Given the description of an element on the screen output the (x, y) to click on. 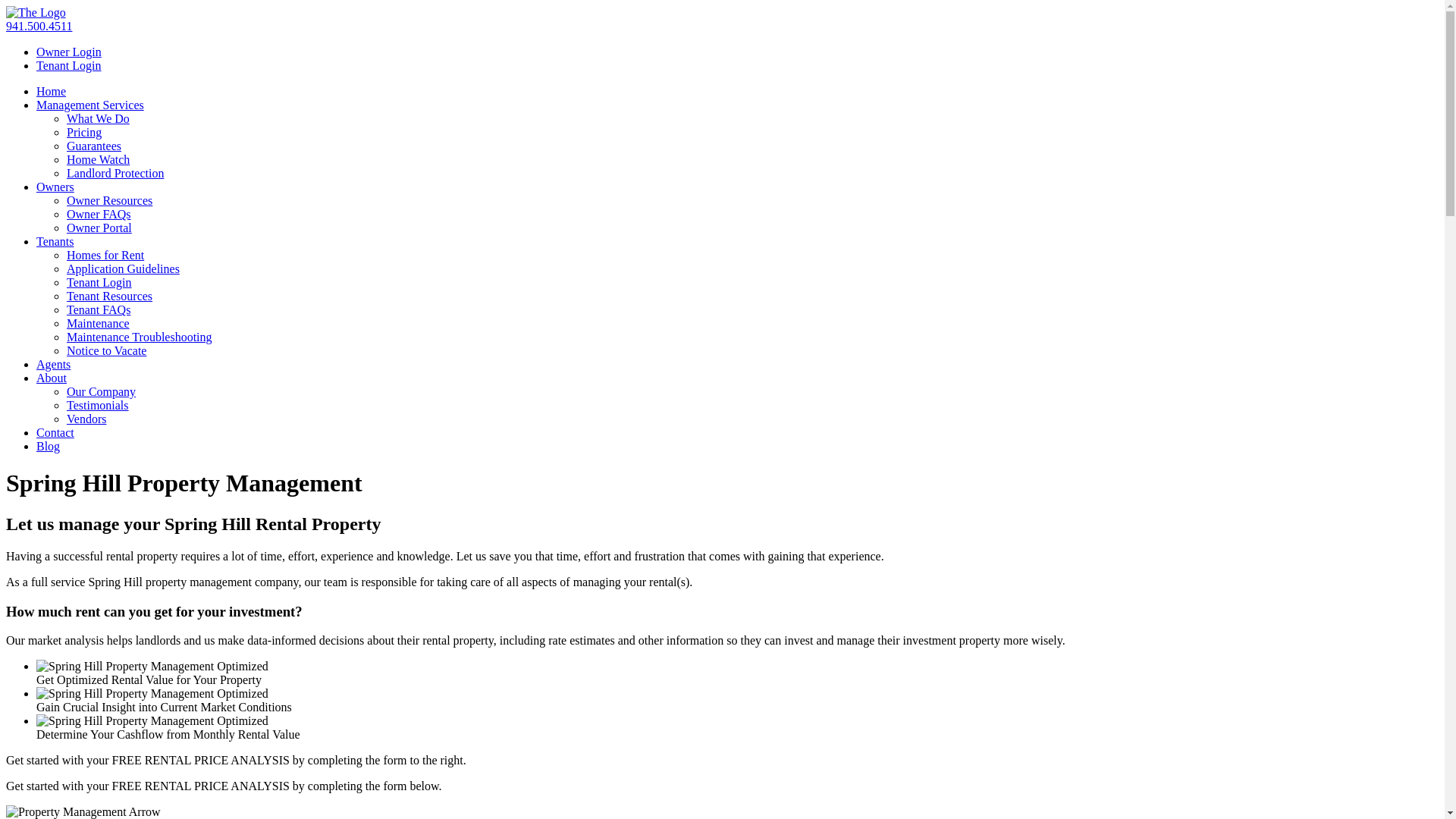
Agents Element type: text (53, 363)
Pricing Element type: text (83, 131)
Our Company Element type: text (100, 391)
Blog Element type: text (47, 445)
Management Services Element type: text (90, 104)
Maintenance Element type: text (97, 322)
Owner Login Element type: text (68, 51)
About Element type: text (51, 377)
Owner FAQs Element type: text (98, 213)
Tenant FAQs Element type: text (98, 309)
Guarantees Element type: text (93, 145)
Owner Resources Element type: text (109, 200)
941.500.4511 Element type: text (39, 25)
Tenant Login Element type: text (68, 65)
Home Element type: text (50, 90)
Notice to Vacate Element type: text (106, 350)
Owner Portal Element type: text (98, 227)
Homes for Rent Element type: text (105, 254)
Vendors Element type: text (86, 418)
Tenants Element type: text (55, 241)
Tenant Resources Element type: text (109, 295)
Maintenance Troubleshooting Element type: text (139, 336)
Landlord Protection Element type: text (114, 172)
Contact Element type: text (55, 432)
Tenant Login Element type: text (98, 282)
Home Watch Element type: text (97, 159)
What We Do Element type: text (97, 118)
Application Guidelines Element type: text (122, 268)
Owners Element type: text (55, 186)
Testimonials Element type: text (97, 404)
